Given the description of an element on the screen output the (x, y) to click on. 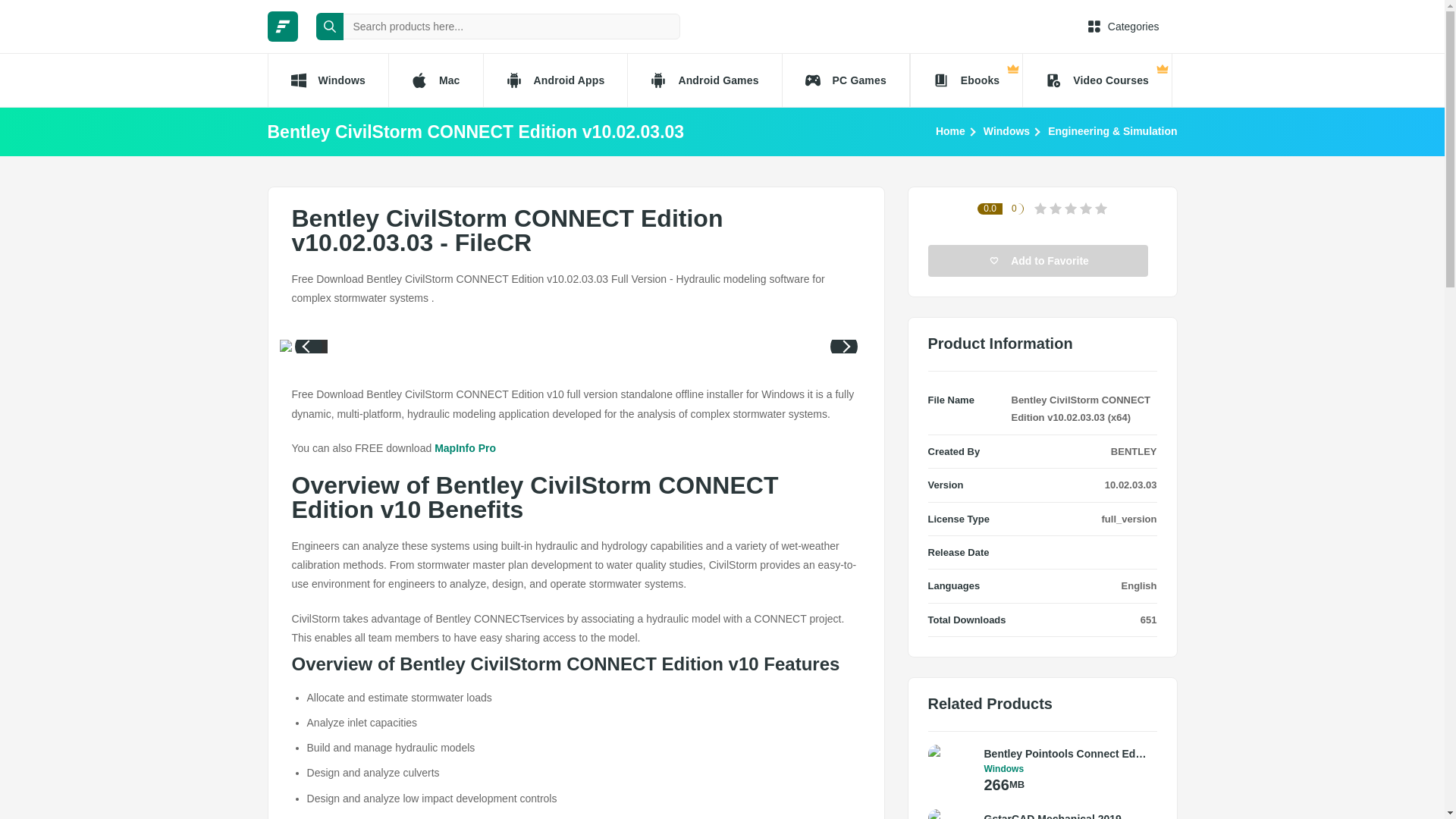
PC Games (845, 80)
Windows (326, 80)
Home (950, 131)
Add to Favorite (1038, 260)
Categories (1122, 26)
Android Games (703, 80)
Android Apps (555, 80)
BENTLEY (1133, 451)
Windows (1006, 131)
Bentley Pointools Connect Edition 10 (1066, 753)
